Given the description of an element on the screen output the (x, y) to click on. 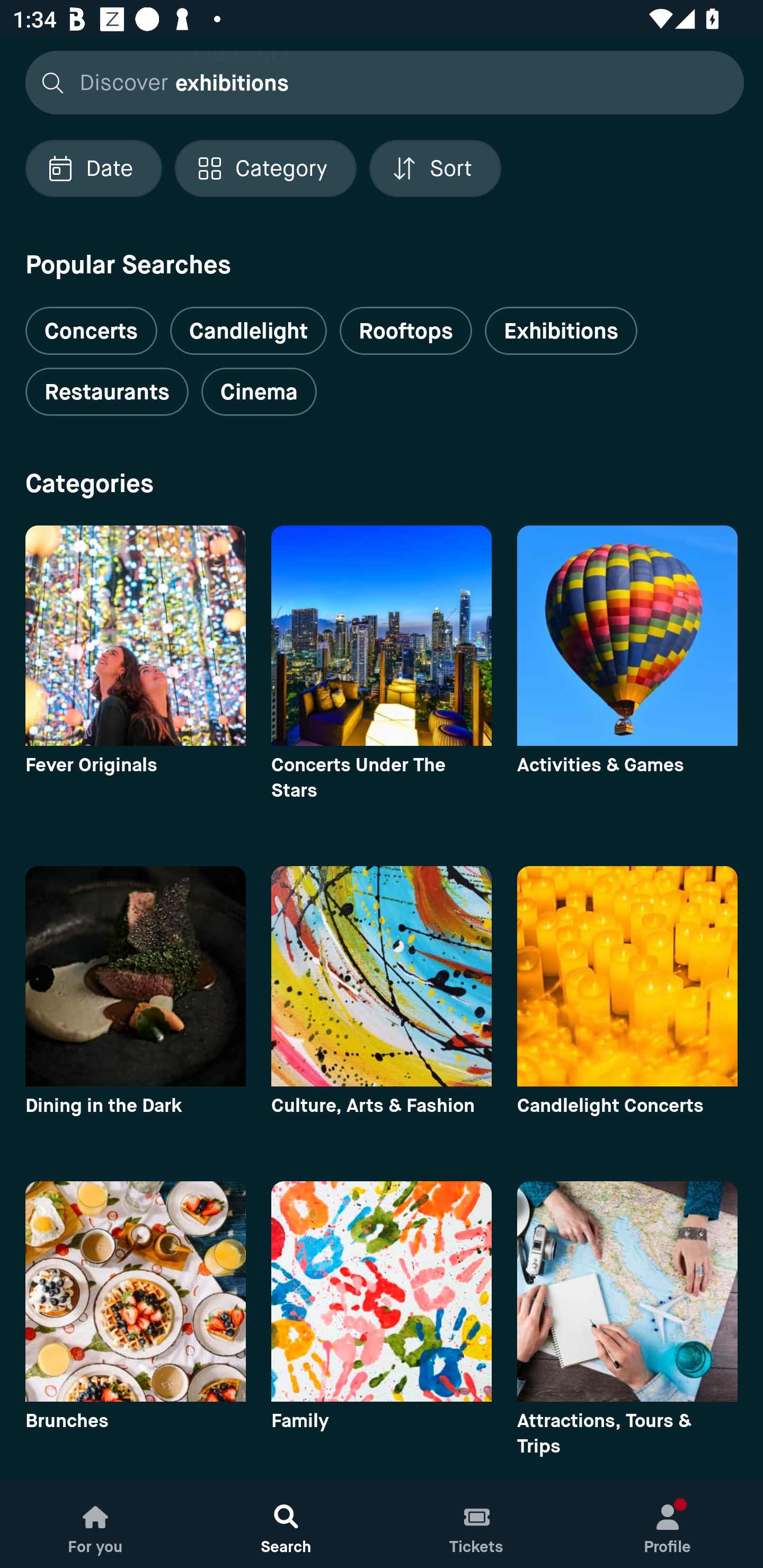
Discover candlelight exhibitions (379, 81)
Localized description Date (93, 168)
Localized description Category (265, 168)
Localized description Sort (435, 168)
Concerts (91, 323)
Candlelight (248, 330)
Rooftops (405, 330)
Exhibitions (560, 330)
Restaurants (106, 391)
Cinema (258, 391)
category image (135, 635)
category image (381, 635)
category image (627, 635)
category image (135, 975)
category image (381, 975)
category image (627, 975)
category image (135, 1290)
category image (381, 1290)
category image (627, 1290)
For you (95, 1523)
Tickets (476, 1523)
Profile, New notification Profile (667, 1523)
